Given the description of an element on the screen output the (x, y) to click on. 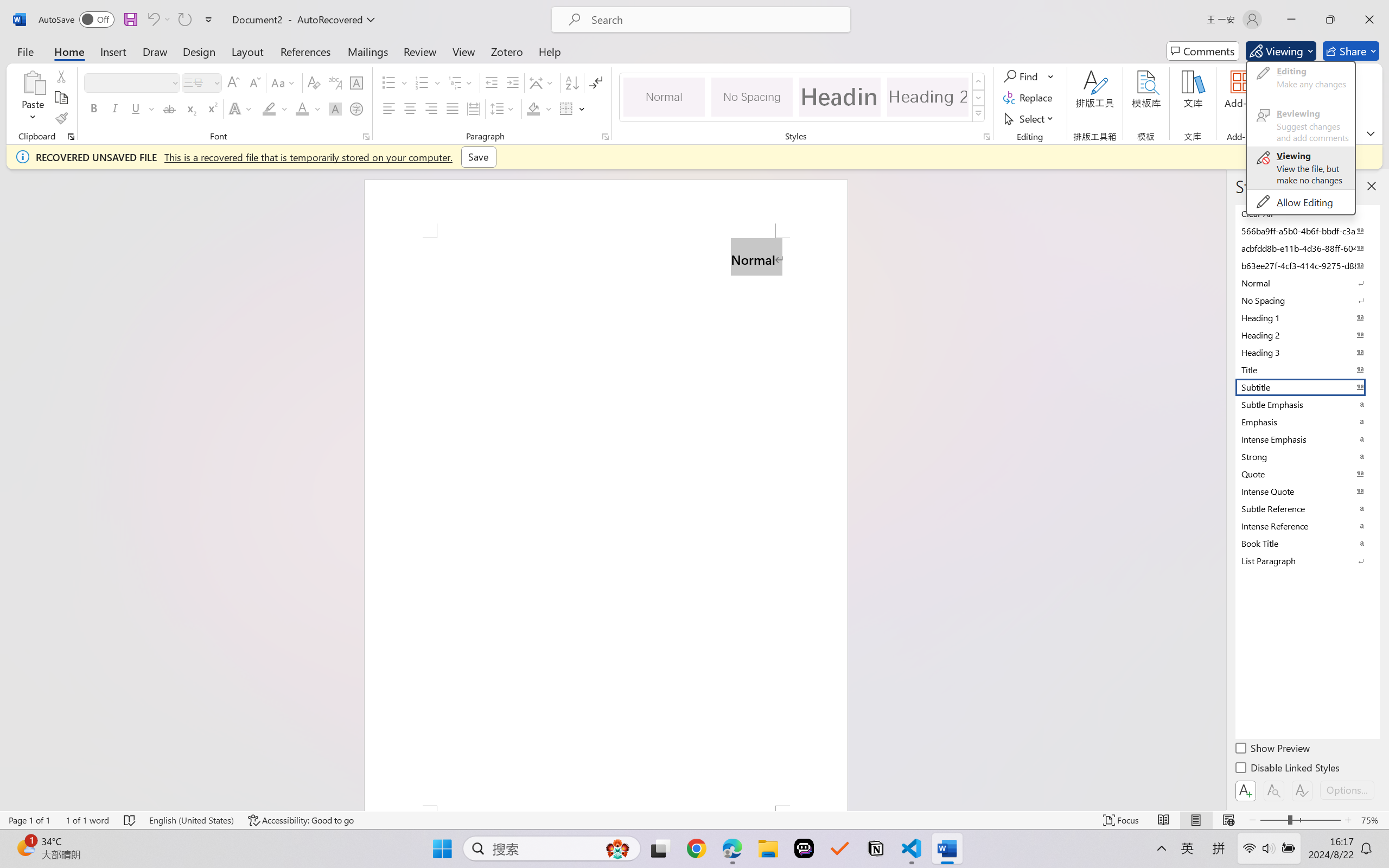
Replace... (1029, 97)
Class: MsoCommandBar (694, 819)
566ba9ff-a5b0-4b6f-bbdf-c3ab41993fc2 (1306, 230)
Mode (1280, 50)
Select (1030, 118)
Subtitle (1306, 386)
